Given the description of an element on the screen output the (x, y) to click on. 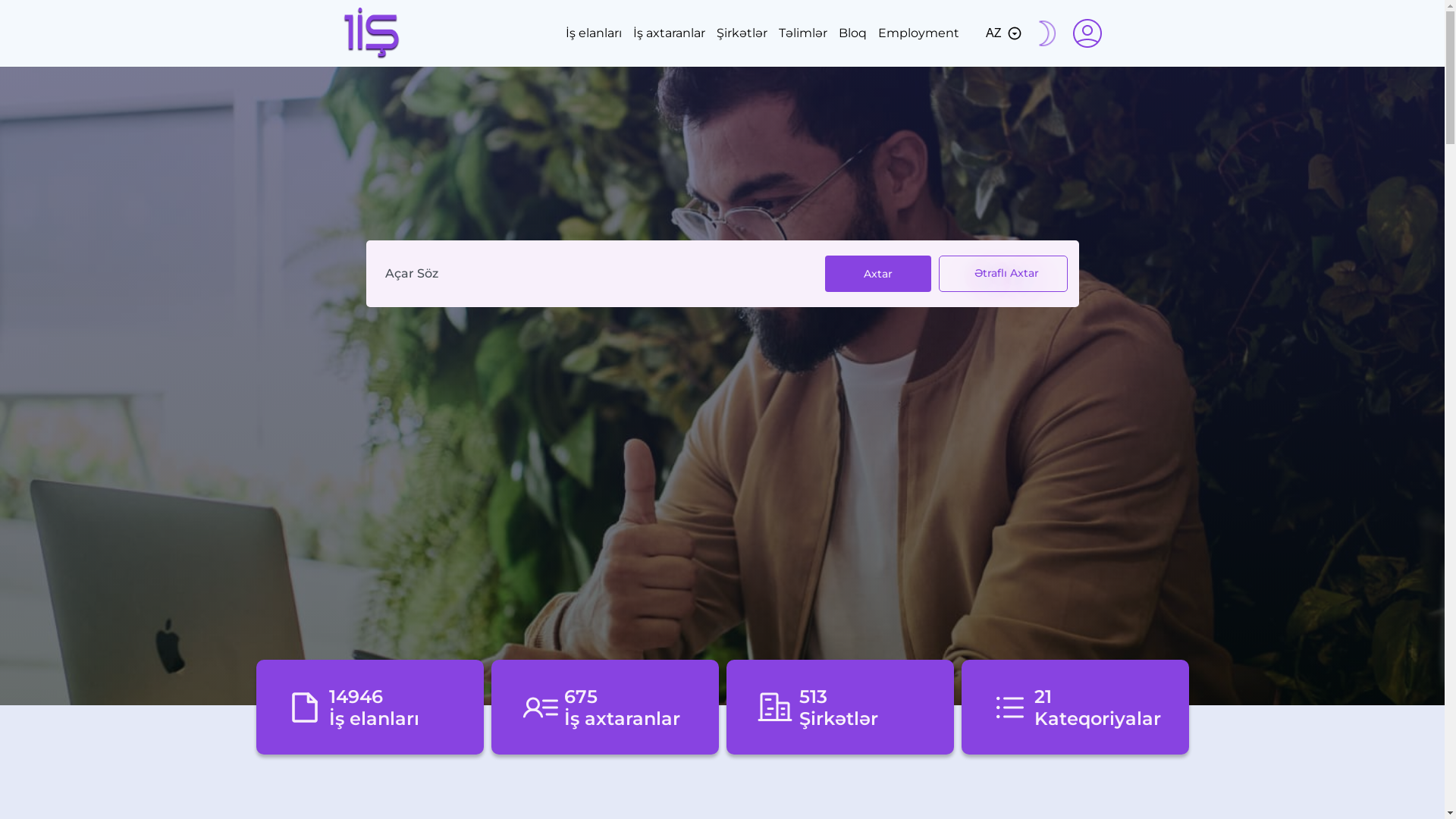
Bloq Element type: text (852, 32)
Axtar Element type: text (878, 273)
21
Kateqoriyalar Element type: text (1075, 706)
Employment Element type: text (918, 32)
